Given the description of an element on the screen output the (x, y) to click on. 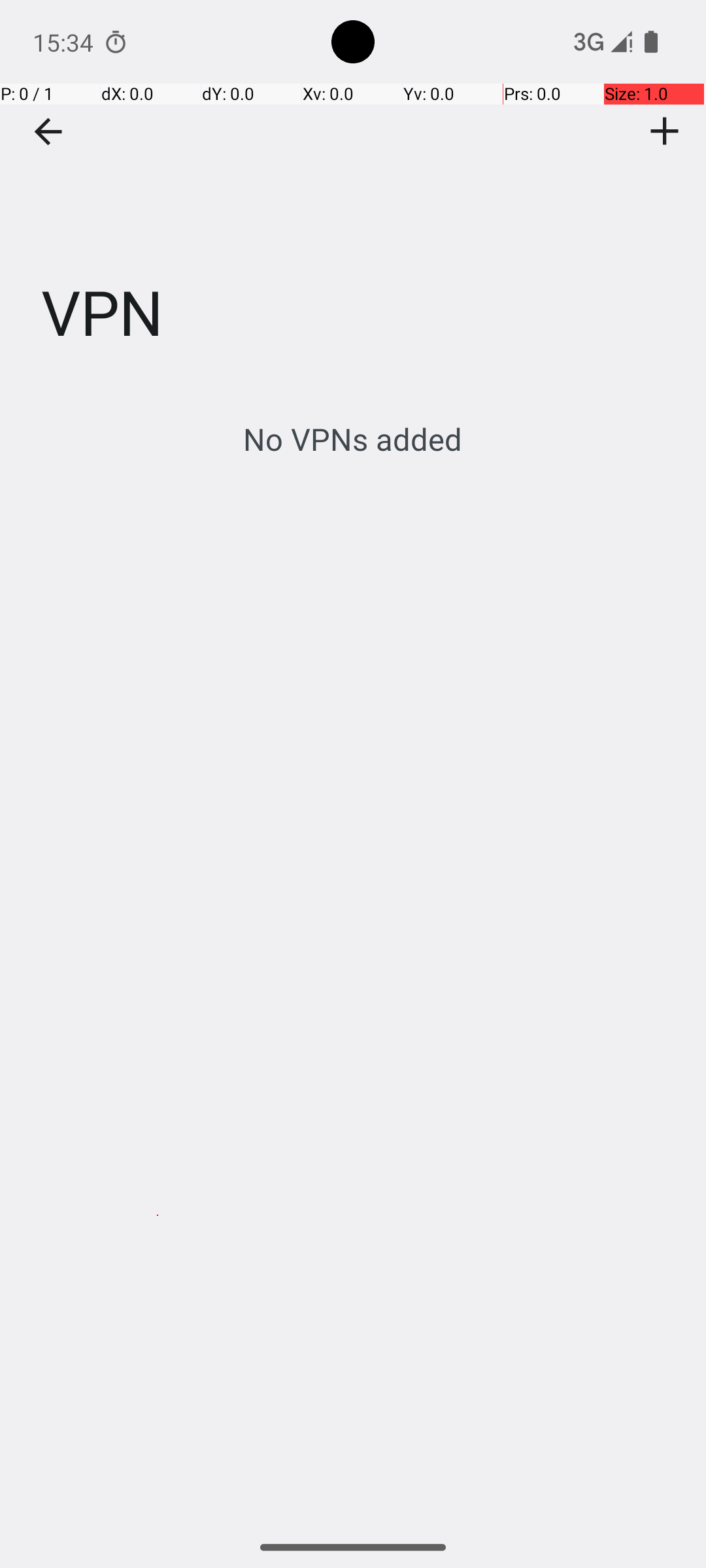
No VPNs added Element type: android.widget.TextView (352, 438)
Add VPN profile Element type: android.widget.TextView (664, 131)
